Given the description of an element on the screen output the (x, y) to click on. 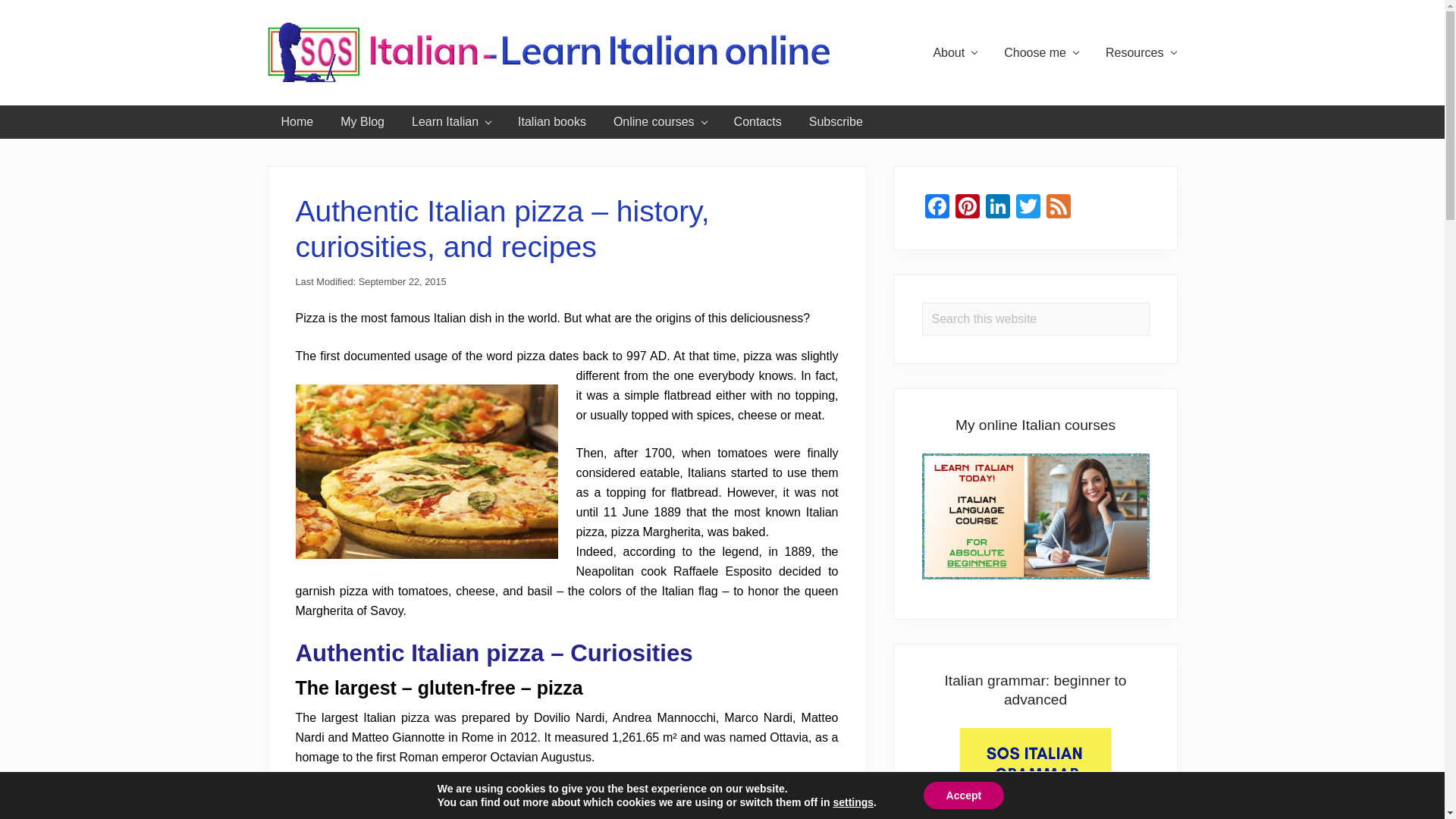
Resources (1140, 52)
Choose me (1040, 52)
About (954, 52)
